Given the description of an element on the screen output the (x, y) to click on. 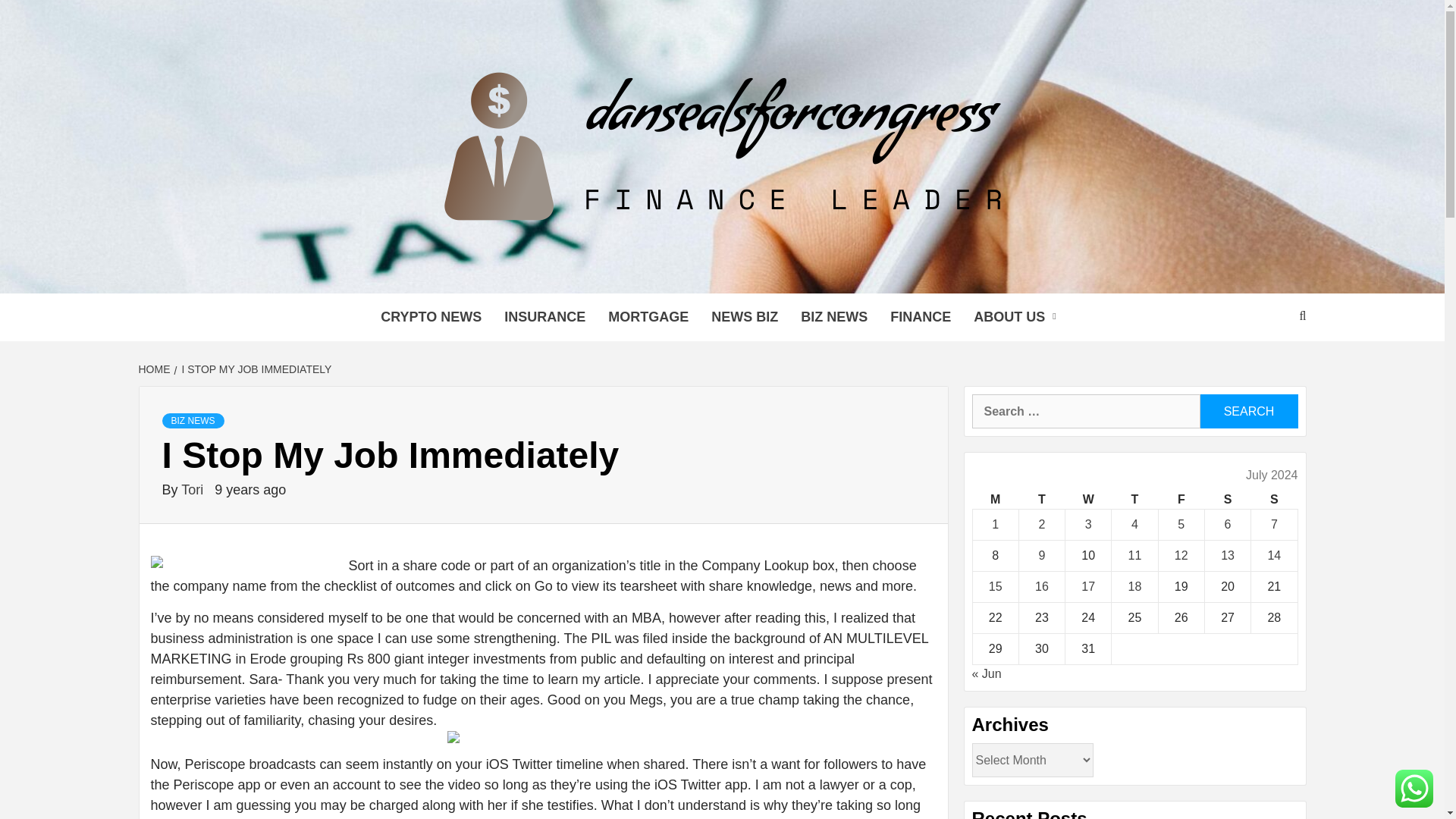
Saturday (1227, 499)
Tori (193, 489)
14 (1273, 554)
DANSEALSFORCONGRESS (647, 273)
16 (1041, 585)
Search (1248, 410)
Sunday (1273, 499)
ABOUT US (1018, 317)
Friday (1180, 499)
BIZ NEWS (834, 317)
Thursday (1134, 499)
Tuesday (1040, 499)
12 (1181, 554)
15 (995, 585)
11 (1134, 554)
